Given the description of an element on the screen output the (x, y) to click on. 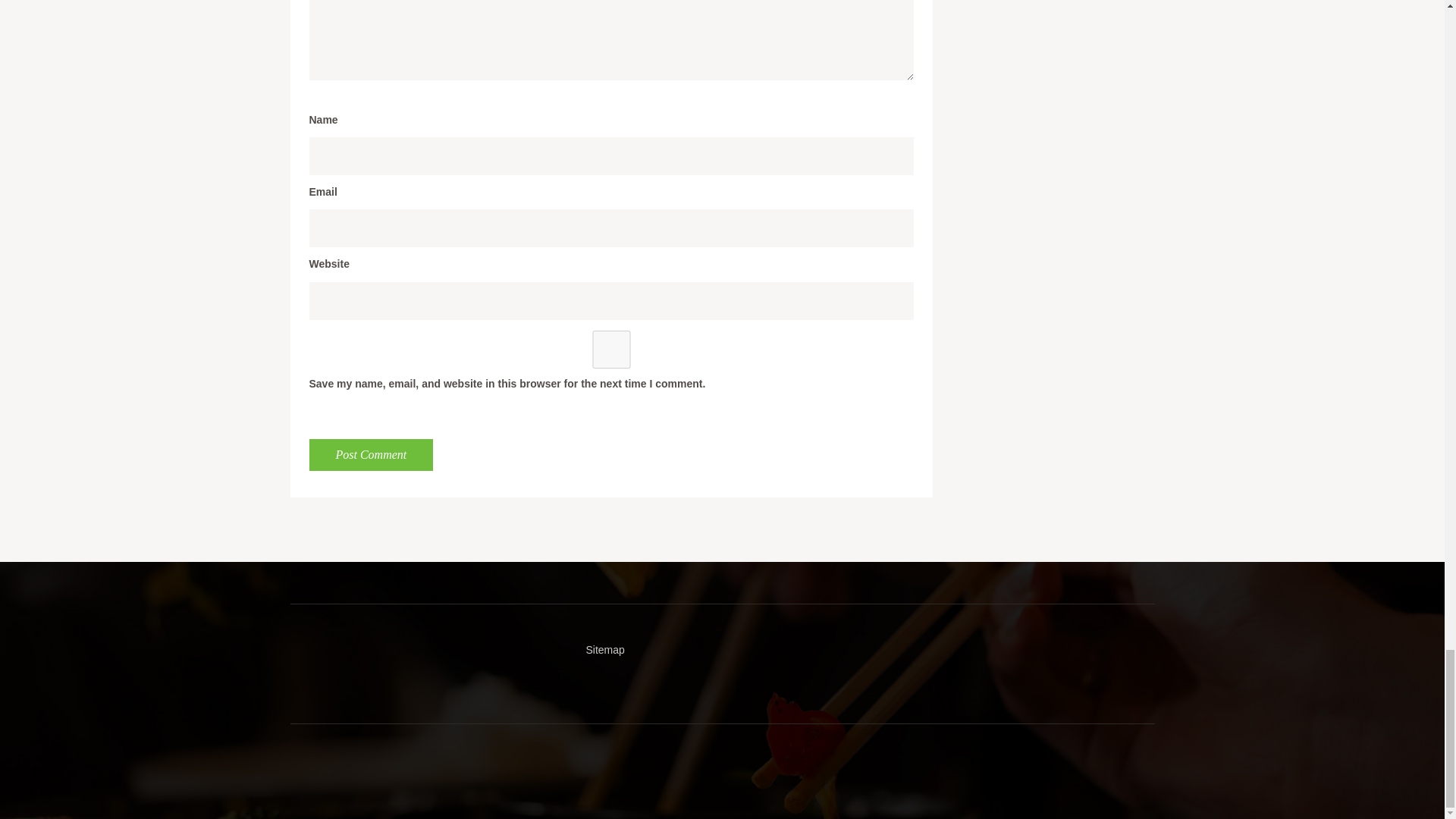
LiveInternet (301, 652)
Sitemap (604, 649)
Post Comment (370, 454)
yes (611, 349)
